Given the description of an element on the screen output the (x, y) to click on. 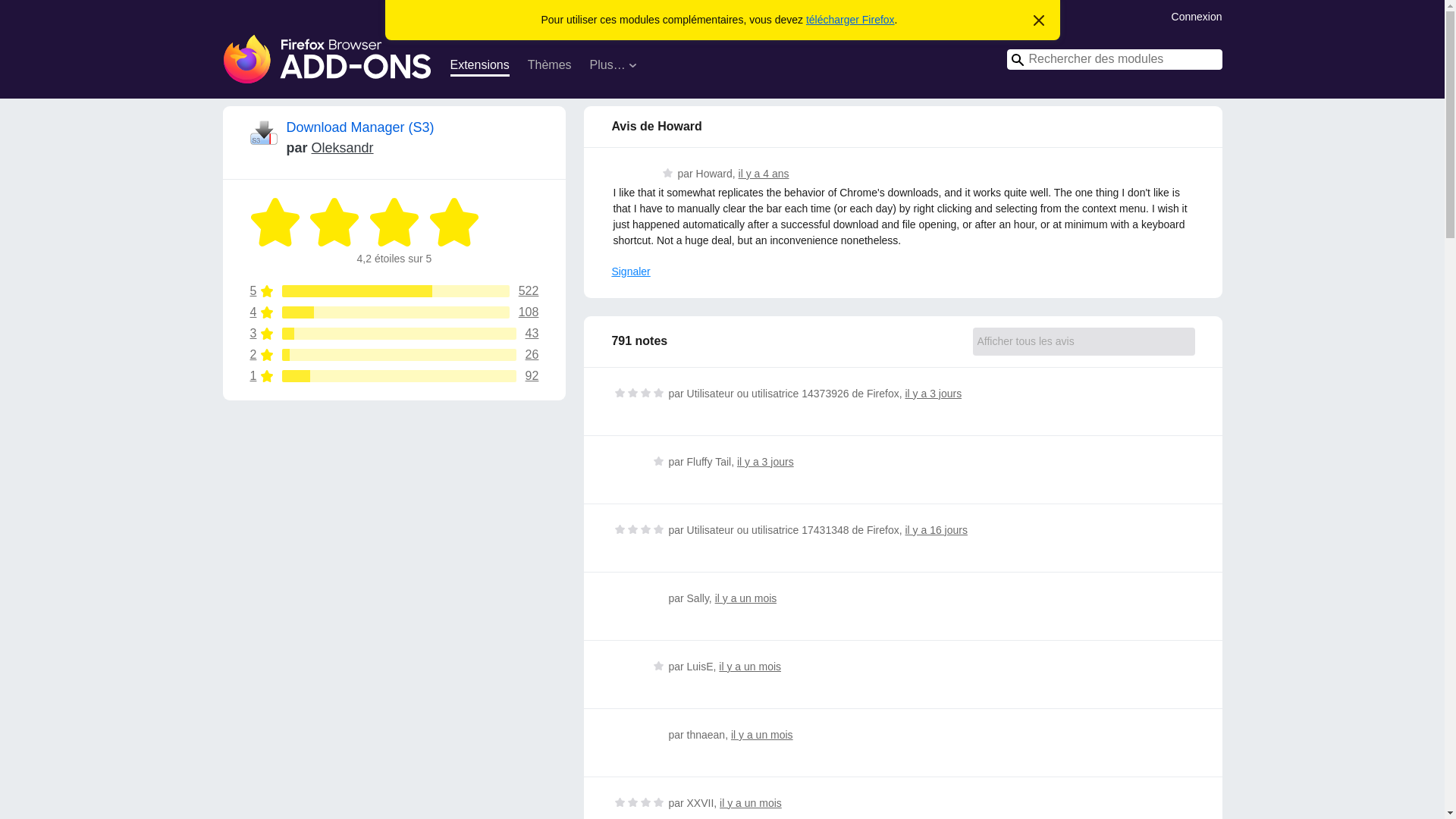
il y a 3 jours (932, 393)
Connexion (1197, 14)
Oleksandr (342, 147)
14 oct. 2020 16:44 (394, 376)
il y a un mois (394, 354)
Signaler (763, 173)
il y a un mois (745, 598)
il y a un mois (630, 271)
il y a 16 jours (749, 666)
Cacher ce message (394, 291)
Rechercher (750, 802)
Modules pour le navigateur Firefox (935, 530)
